Given the description of an element on the screen output the (x, y) to click on. 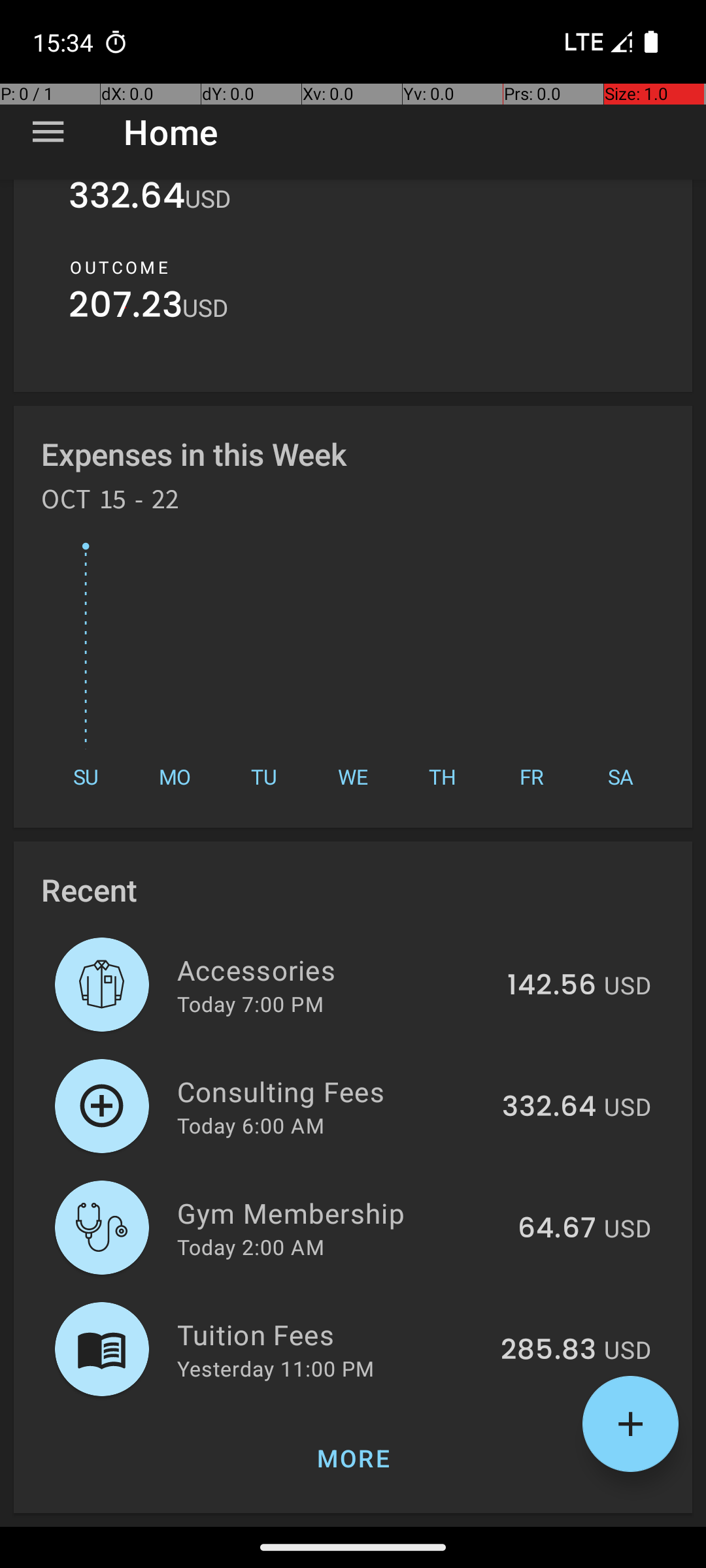
332.64 Element type: android.widget.TextView (126, 203)
207.23 Element type: android.widget.TextView (125, 307)
Accessories Element type: android.widget.TextView (334, 969)
142.56 Element type: android.widget.TextView (551, 985)
Consulting Fees Element type: android.widget.TextView (331, 1091)
Today 6:00 AM Element type: android.widget.TextView (250, 1125)
Gym Membership Element type: android.widget.TextView (339, 1212)
Today 2:00 AM Element type: android.widget.TextView (250, 1246)
64.67 Element type: android.widget.TextView (556, 1228)
Tuition Fees Element type: android.widget.TextView (331, 1334)
Yesterday 11:00 PM Element type: android.widget.TextView (275, 1368)
285.83 Element type: android.widget.TextView (548, 1350)
